Given the description of an element on the screen output the (x, y) to click on. 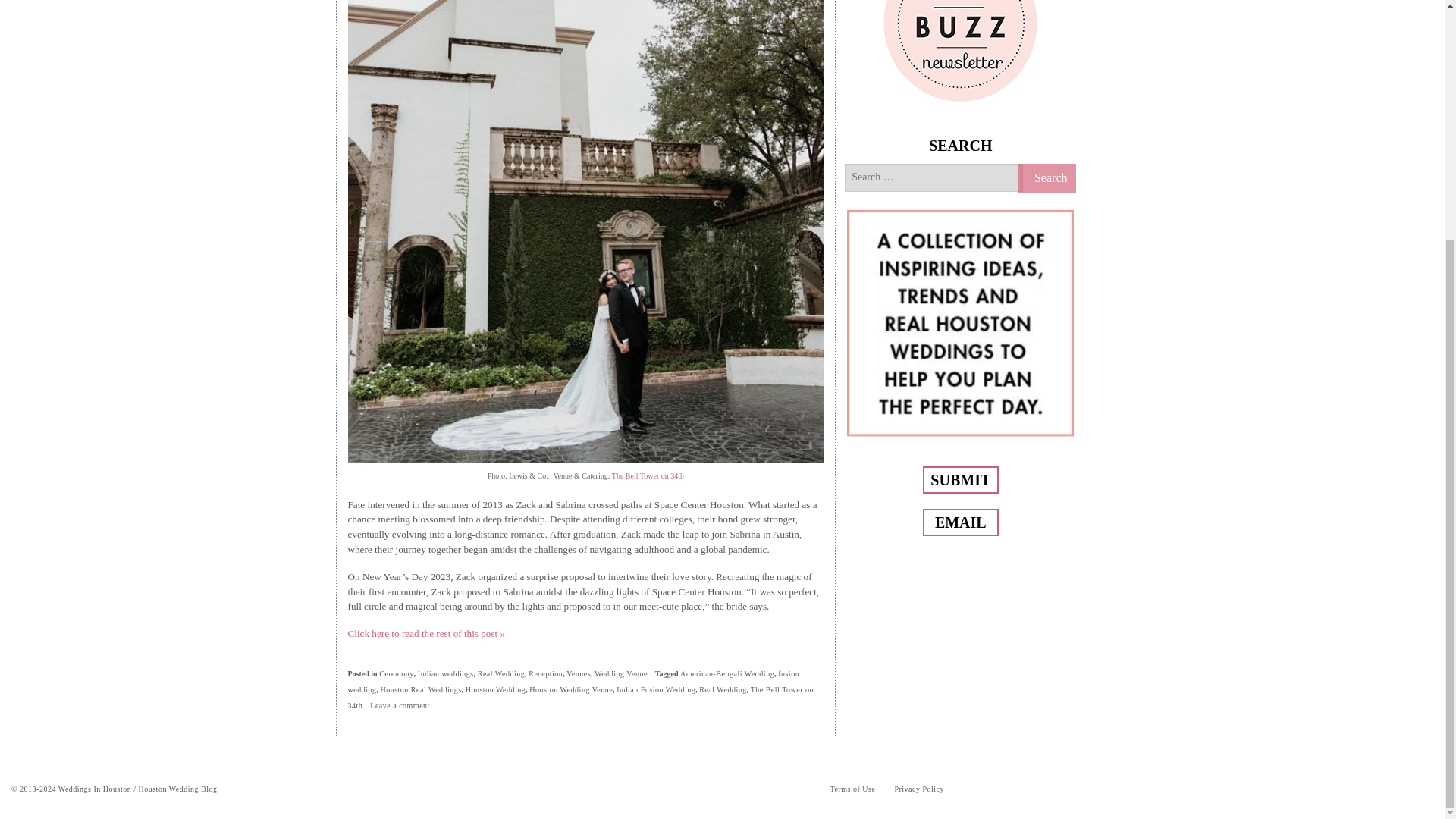
Venues (578, 673)
Ceremony (395, 673)
Houston Wedding Venue (570, 689)
Indian weddings (445, 673)
Wedding Venue (620, 673)
American-Bengali Wedding (726, 673)
Real Wedding (501, 673)
fusion wedding (573, 681)
Reception (545, 673)
Houston Wedding (495, 689)
Search (1047, 177)
The Bell Tower on 34th (647, 475)
Houston Real Weddings (420, 689)
